Given the description of an element on the screen output the (x, y) to click on. 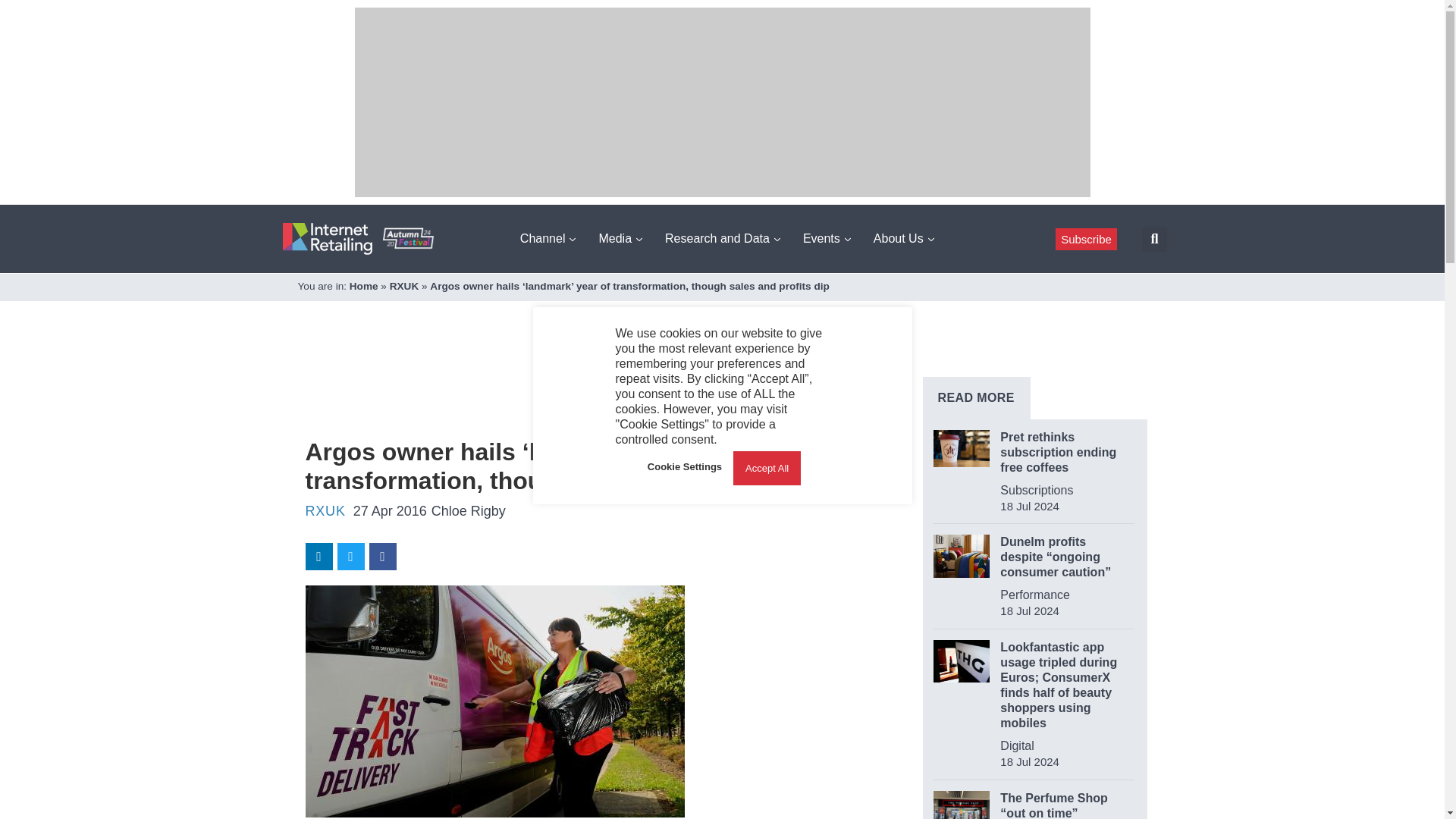
Media (620, 238)
Research and Data (722, 238)
Channel (547, 238)
3rd party ad content (580, 387)
